Given the description of an element on the screen output the (x, y) to click on. 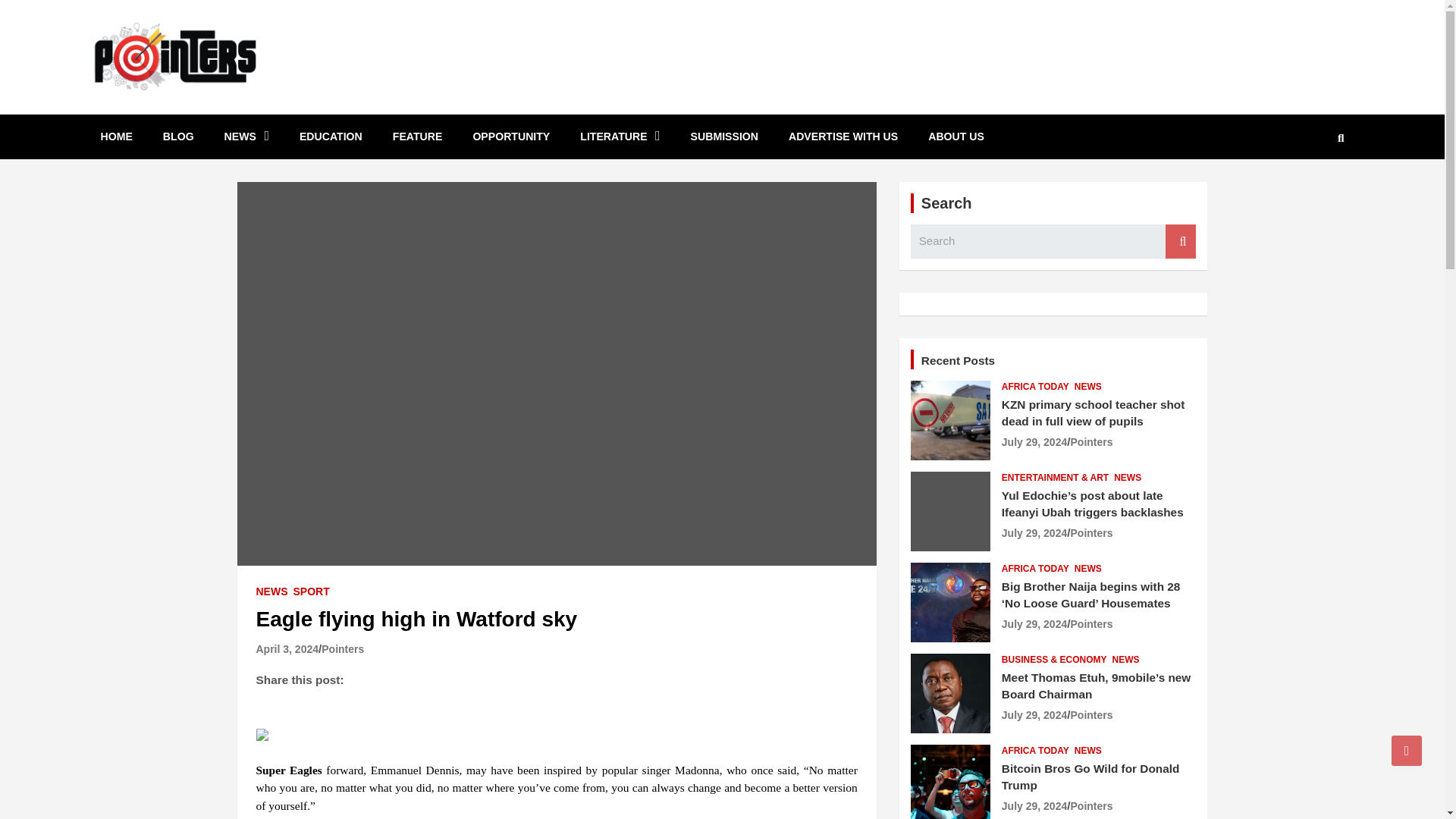
Pointers (342, 648)
EDUCATION (330, 135)
LITERATURE (619, 135)
KZN primary school teacher shot dead in full view of pupils (1034, 441)
Bitcoin Bros Go Wild for Donald Trump (1034, 806)
OPPORTUNITY (510, 135)
HOME (115, 135)
SUBMISSION (724, 135)
Eagle flying high in Watford sky (287, 648)
NEWS (246, 135)
SPORT (310, 591)
April 3, 2024 (287, 648)
FEATURE (417, 135)
BLOG (178, 135)
NEWS (272, 591)
